Given the description of an element on the screen output the (x, y) to click on. 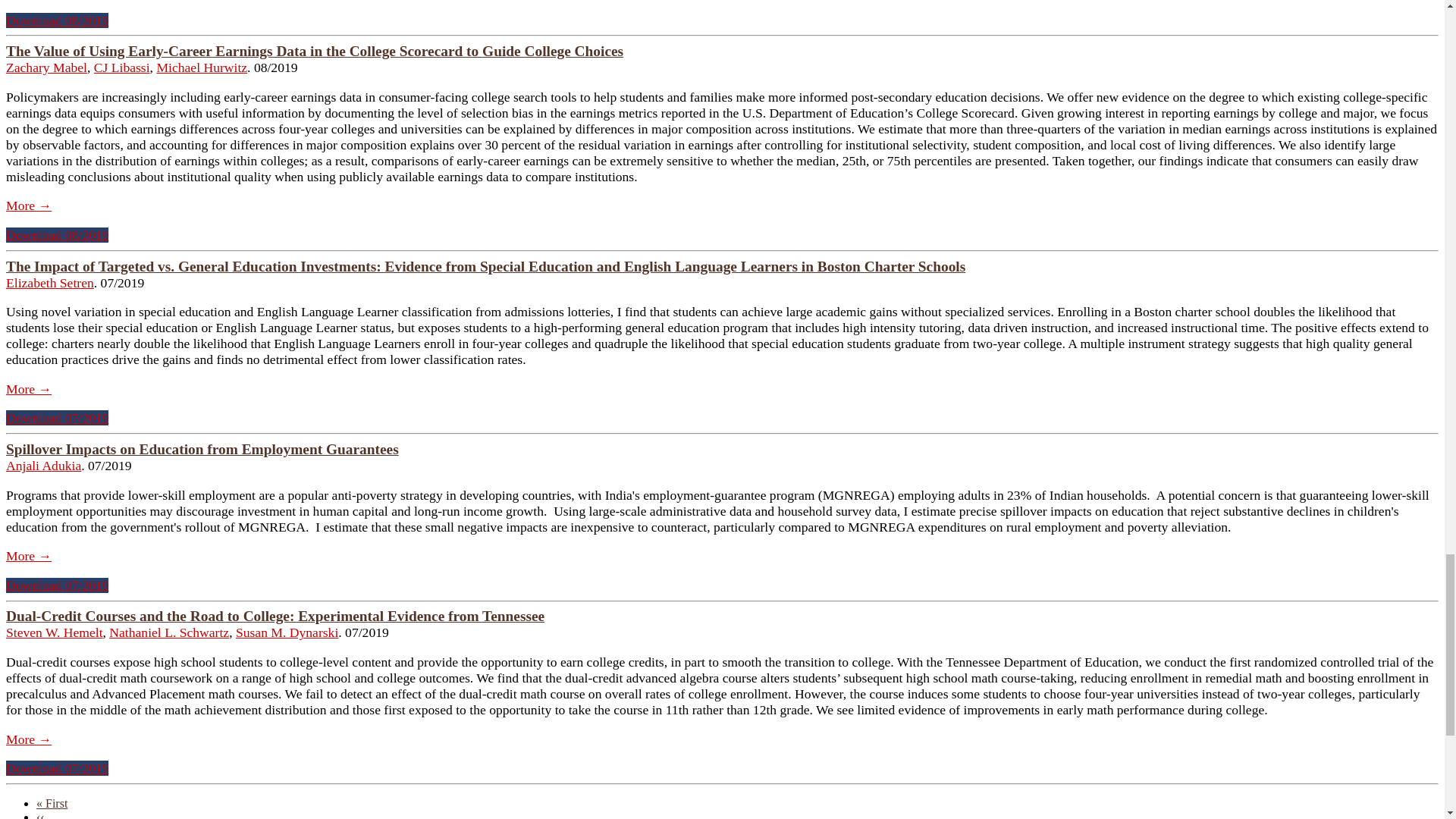
Go to previous page (40, 814)
Open file in new window (56, 234)
Open file in new window (56, 767)
Open file in new window (56, 417)
Go to first page (51, 802)
Open file in new window (56, 20)
Open file in new window (56, 585)
